Given the description of an element on the screen output the (x, y) to click on. 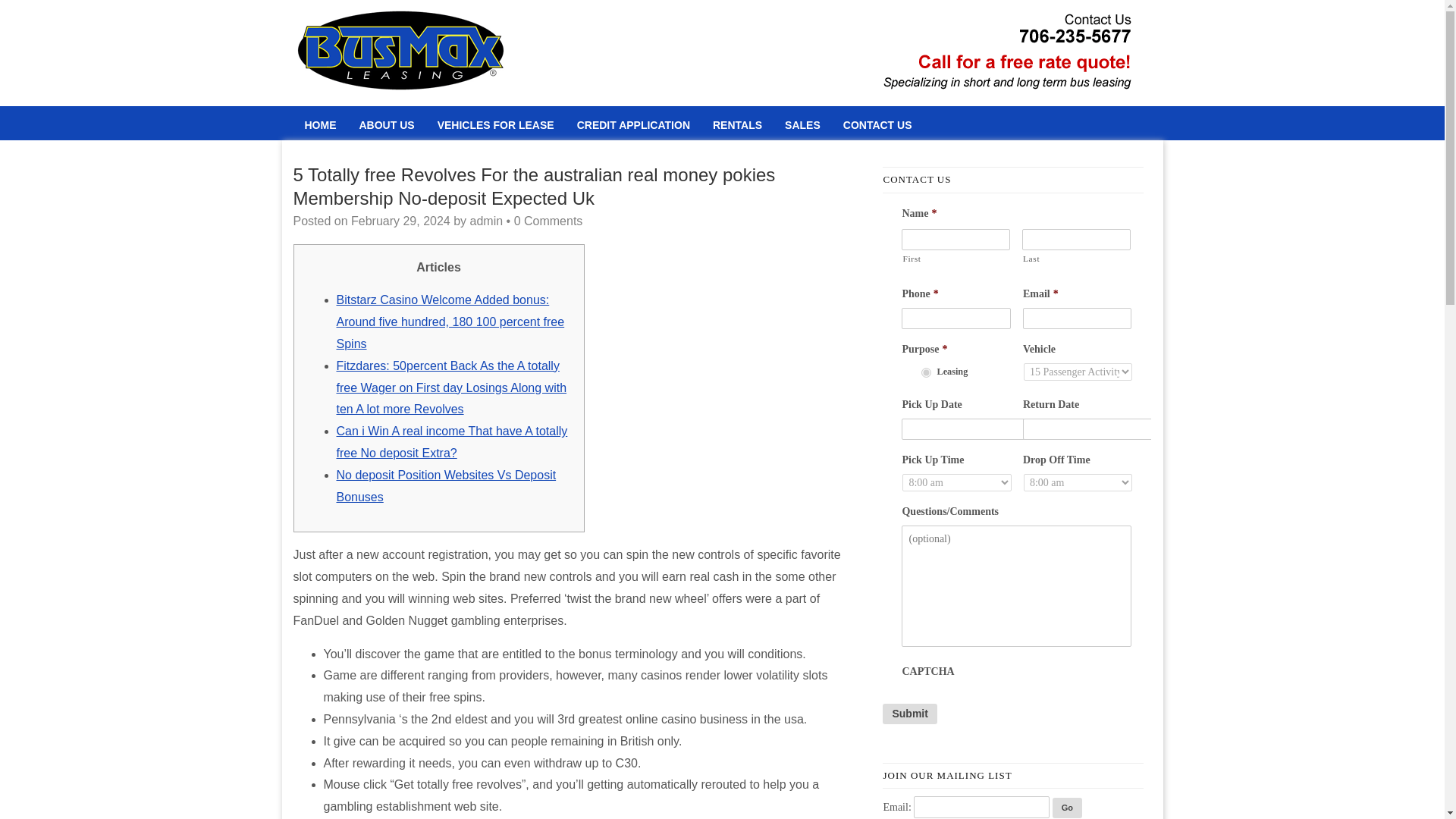
0 Comments (548, 220)
ABOUT US (386, 124)
Go (1066, 807)
CREDIT APPLICATION (633, 124)
Leasing (926, 372)
CONTACT US (877, 124)
View all posts by admin (486, 220)
No deposit Position Websites Vs Deposit Bonuses (446, 485)
Submit (909, 713)
Submit (909, 713)
